Given the description of an element on the screen output the (x, y) to click on. 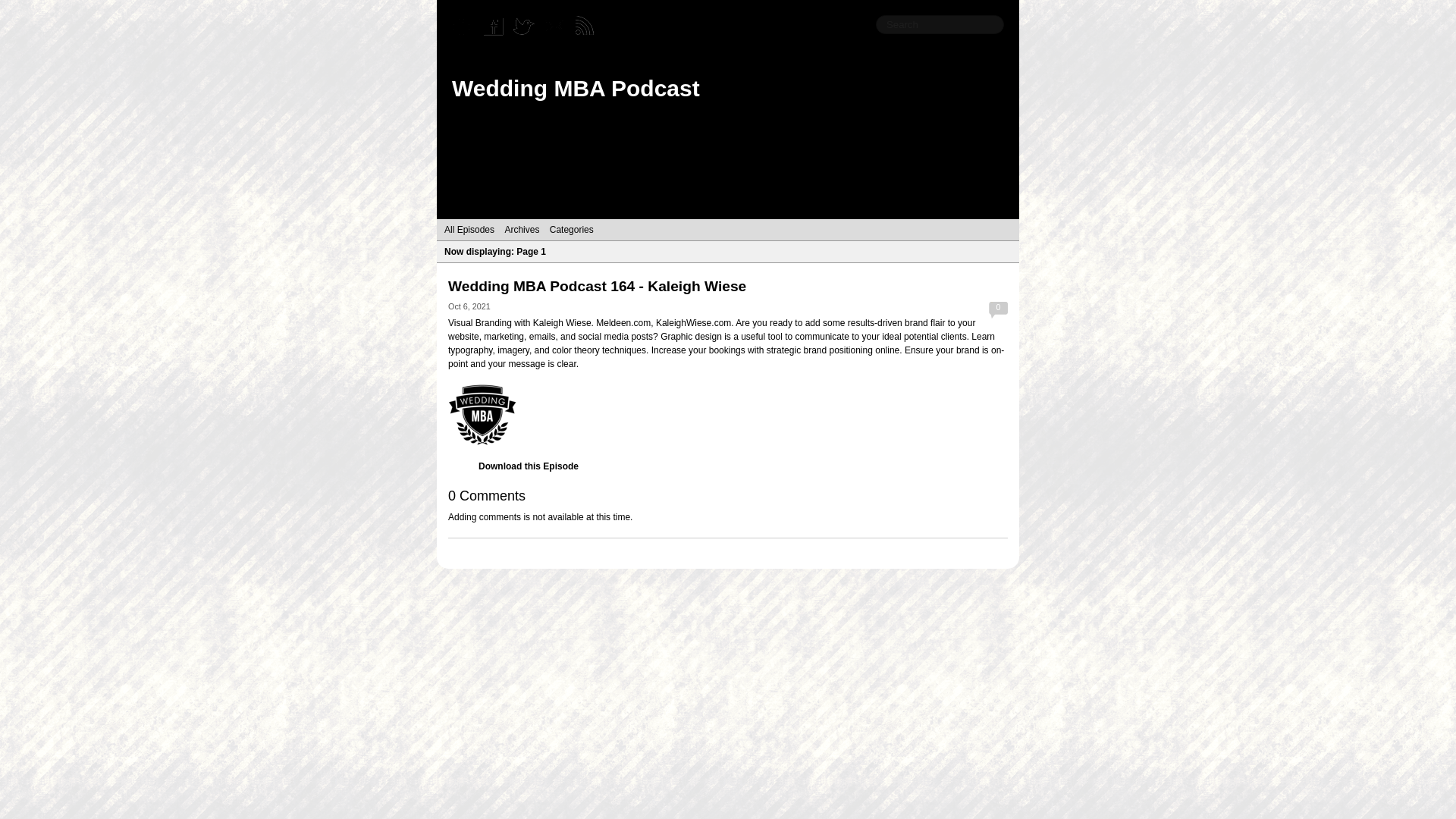
Email (558, 26)
Facebook (496, 26)
Wedding MBA Podcast (575, 88)
RSS Feed (588, 26)
Twitter (527, 26)
Libsyn Player (727, 413)
